Given the description of an element on the screen output the (x, y) to click on. 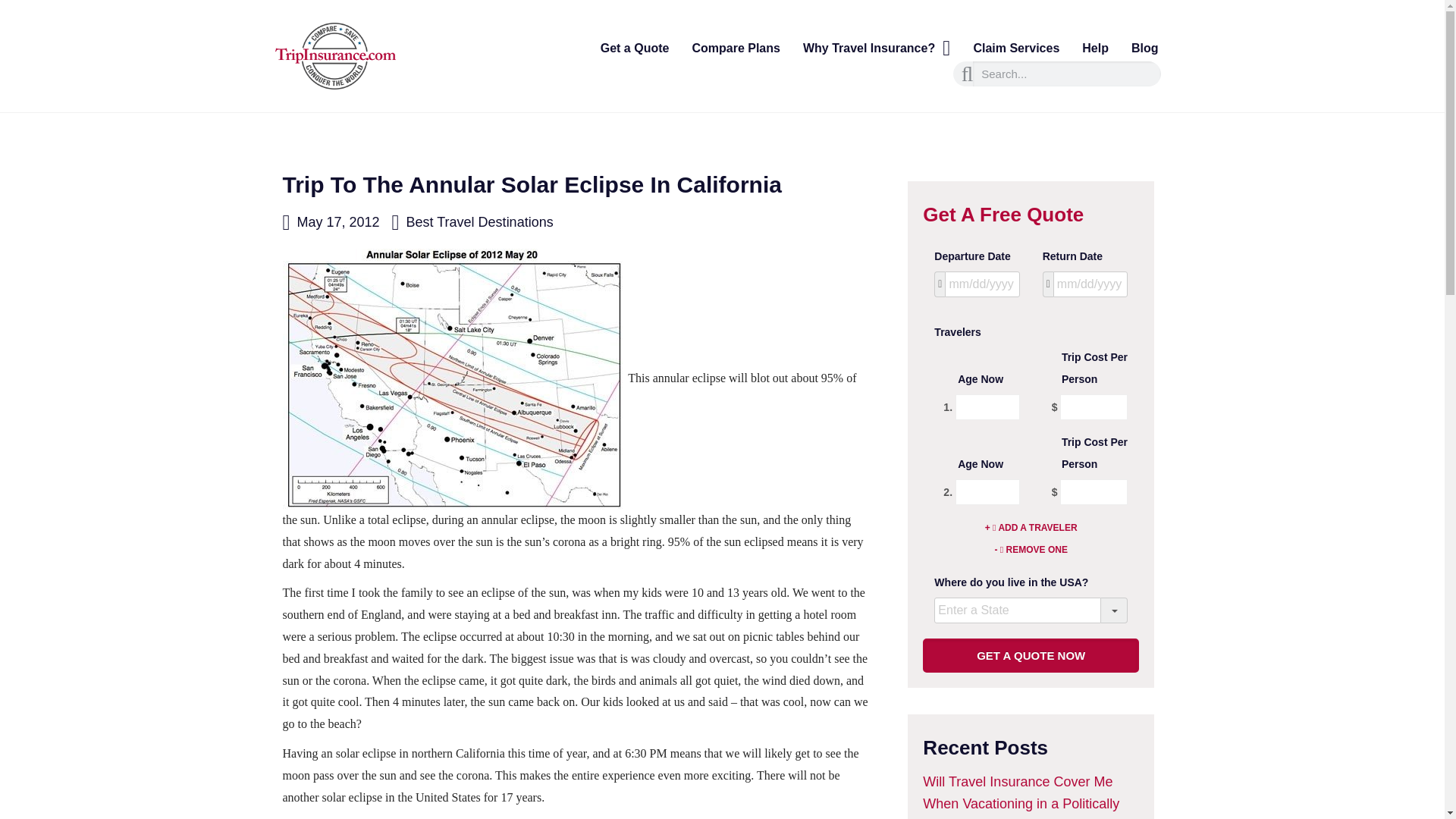
Get a Quote (635, 48)
eclipse-path-annular (453, 378)
Compare Plans (734, 48)
May 17, 2012 (330, 222)
Get a Quote Now (1030, 655)
Why Travel Insurance? (877, 48)
Best Travel Destinations (479, 222)
Claim Services (1015, 48)
Get a Quote Now (1030, 655)
-  REMOVE ONE (1030, 549)
Blog (1144, 48)
Help (1094, 48)
